Given the description of an element on the screen output the (x, y) to click on. 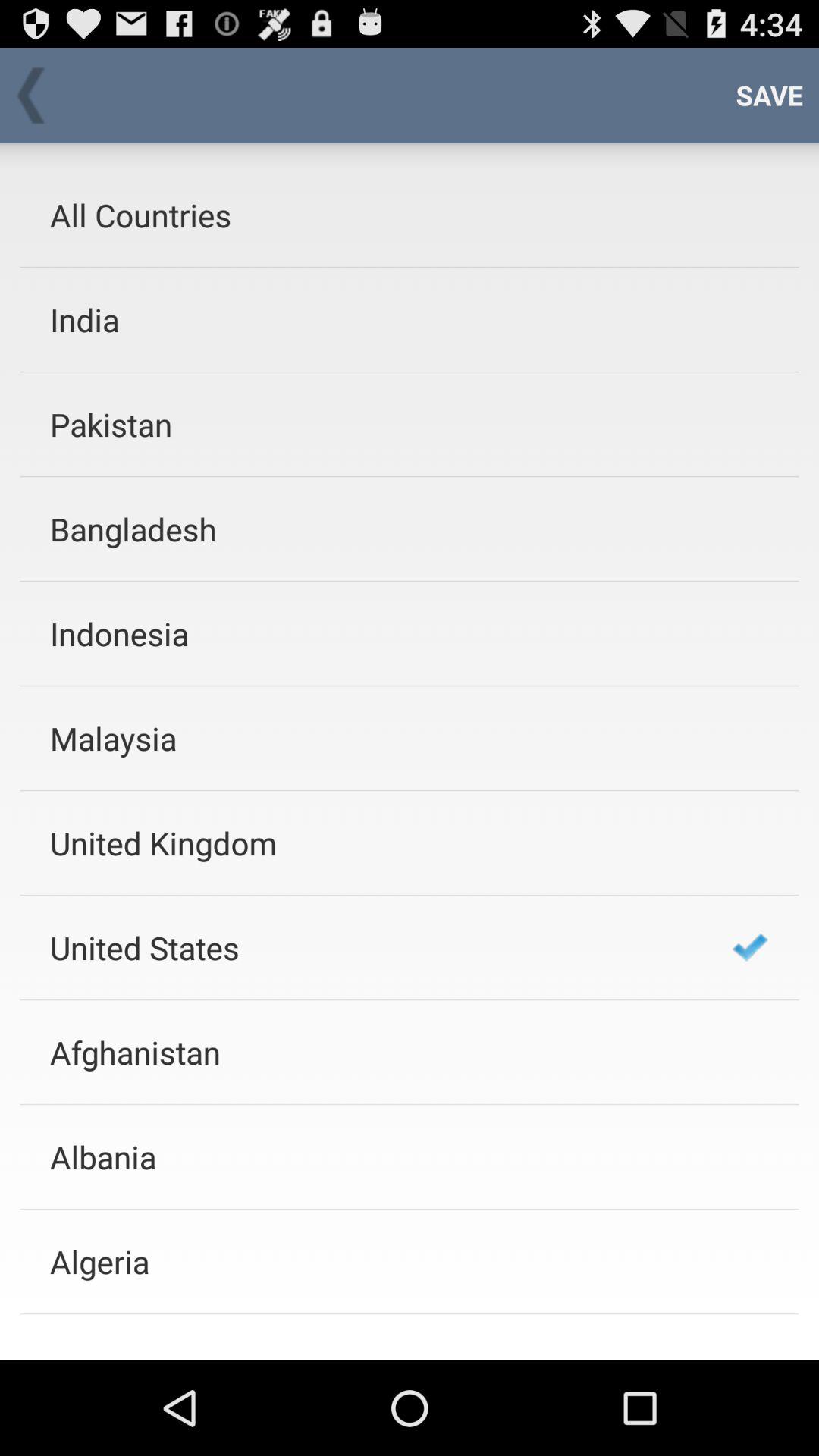
open the item below the save icon (750, 947)
